Given the description of an element on the screen output the (x, y) to click on. 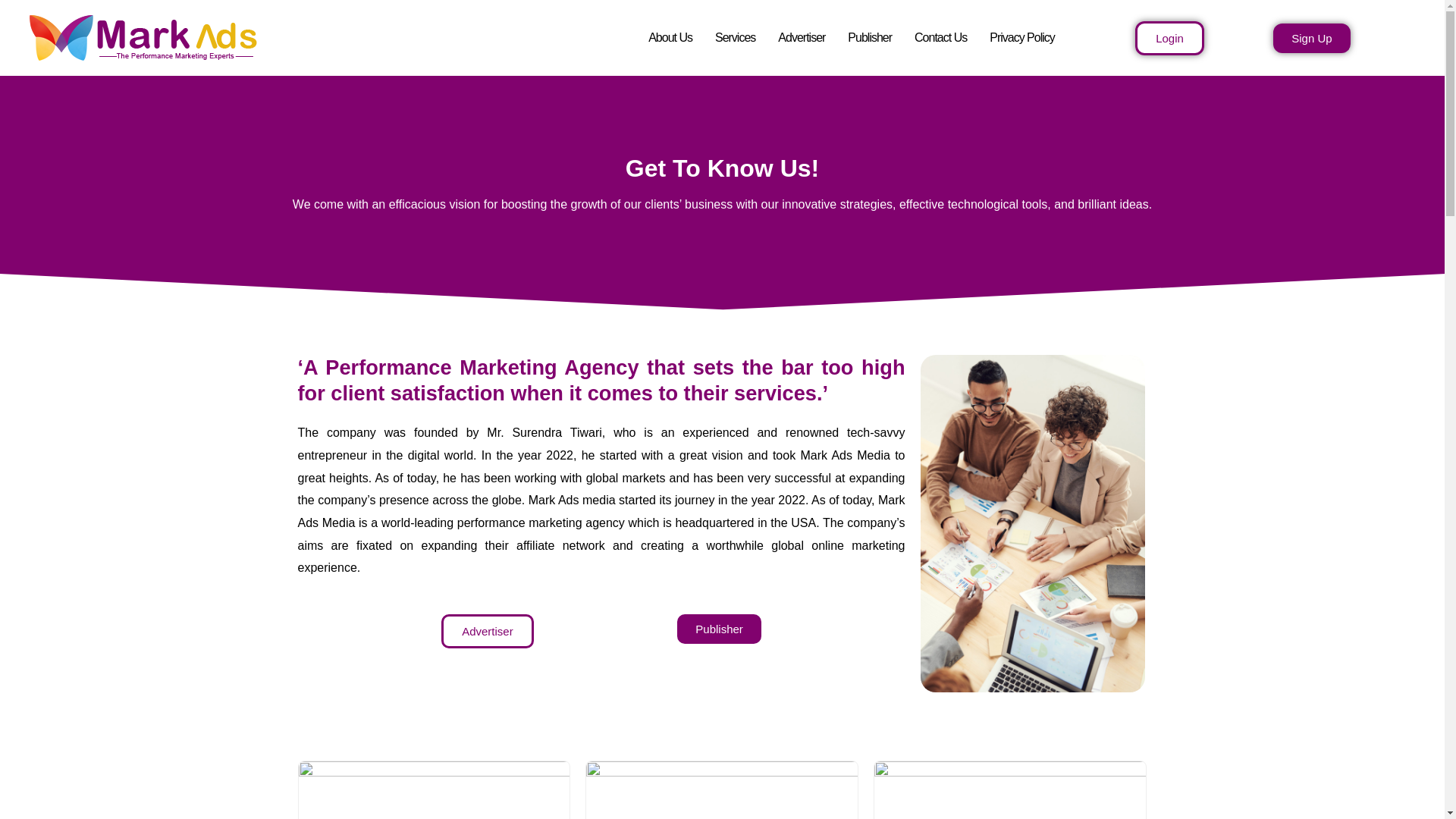
Sign Up (1310, 37)
Advertiser (801, 37)
Publisher (719, 628)
Privacy Policy (1021, 37)
Publisher (868, 37)
Services (735, 37)
Contact Us (940, 37)
Advertiser (487, 631)
About Us (670, 37)
Login (1169, 38)
